Given the description of an element on the screen output the (x, y) to click on. 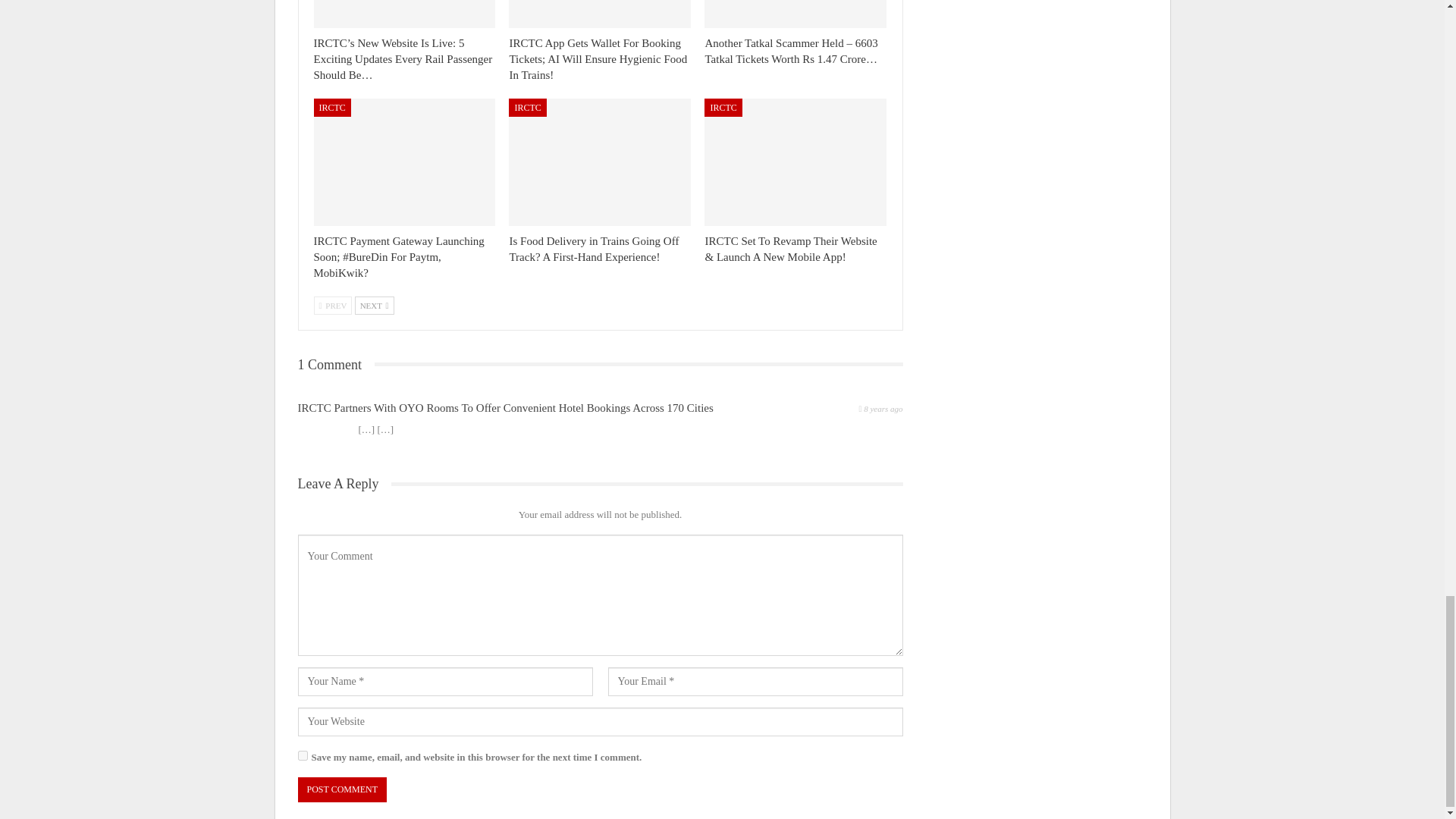
yes (302, 755)
Post Comment (341, 789)
